Given the description of an element on the screen output the (x, y) to click on. 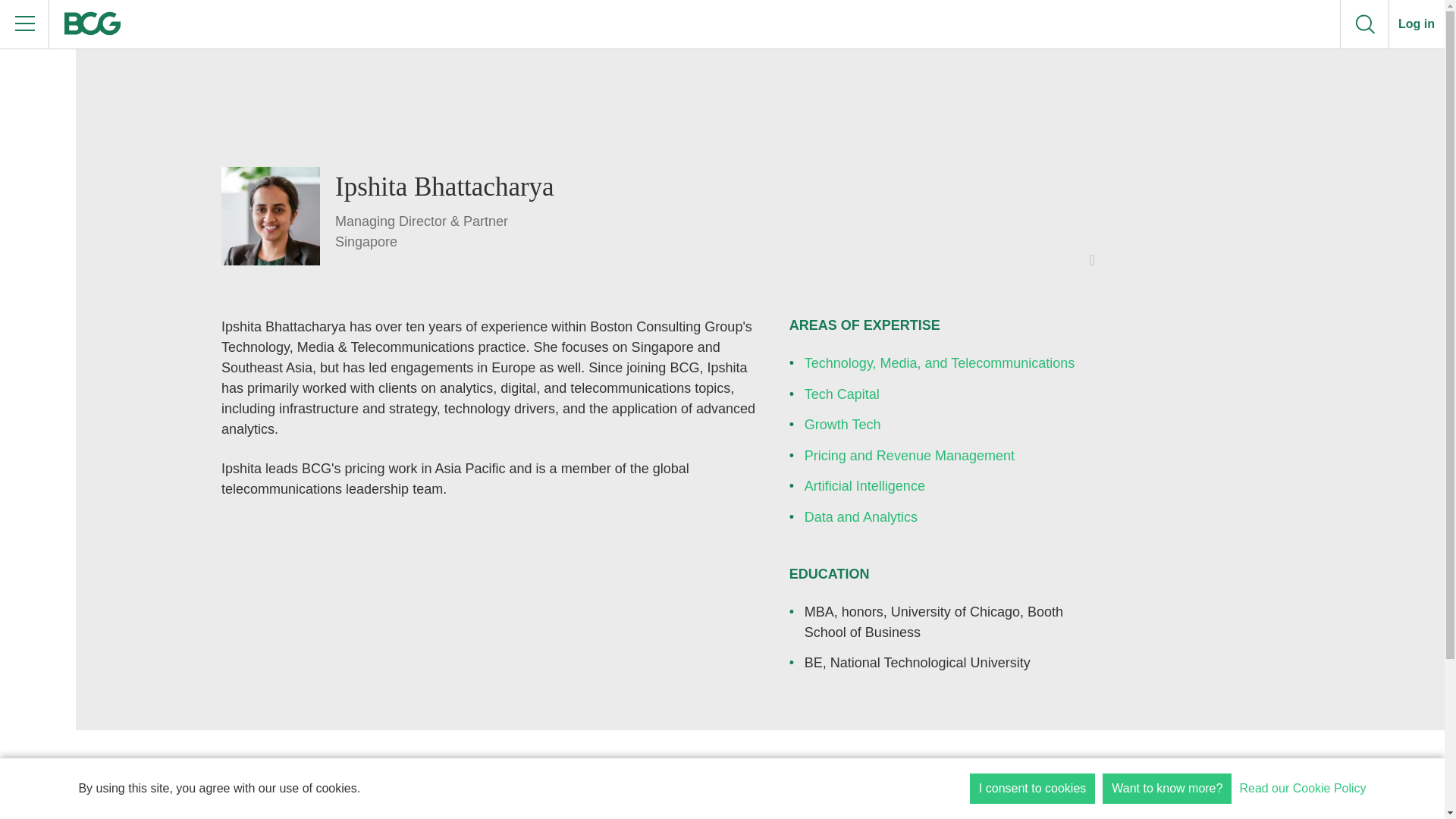
Log in (1416, 24)
Artificial Intelligence (864, 485)
Technology, Media, and Telecommunications (940, 363)
Tech Capital (842, 394)
Singapore (444, 241)
Data and Analytics (861, 516)
Pricing and Revenue Management (909, 454)
Growth Tech (842, 424)
